Given the description of an element on the screen output the (x, y) to click on. 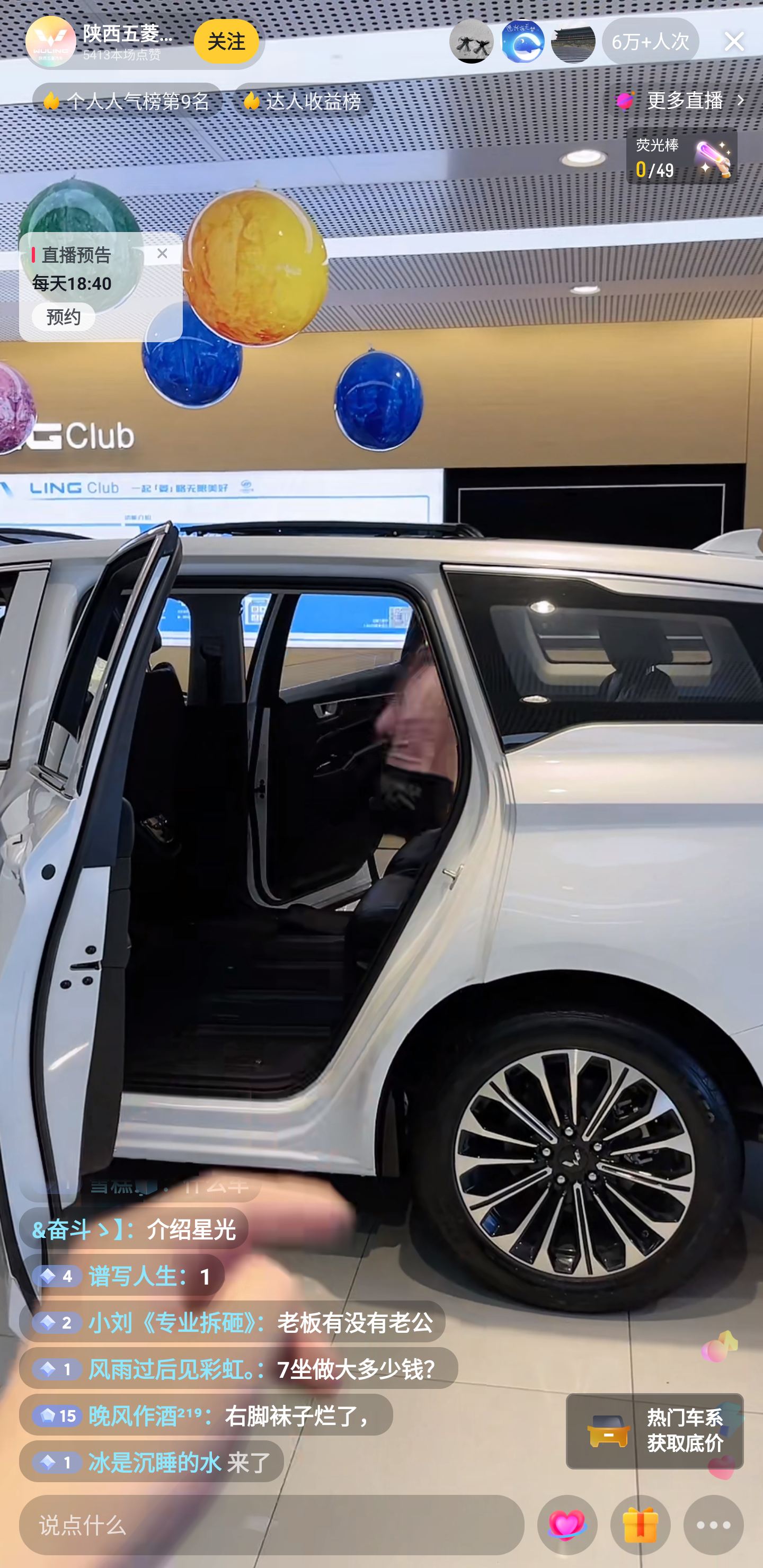
榜一 F (471, 41)
榜二 七雨飘 (522, 41)
榜三 du (572, 41)
主播陕西五菱旗舰店 5413本场点赞  陕西五菱旗舰店 5413本场点赞 关注 (143, 41)
6万+人次 (650, 41)
关注 (226, 41)
关闭 (733, 41)
个人人气榜第9名，按钮 (127, 100)
达人收益榜，按钮 (302, 100)
更多直播 (682, 100)
心愿单- (681, 156)
关闭预告贴片 (162, 249)
预约 按钮 预约 (63, 316)
&奋斗ゝ】：介绍星光 (133, 1228)
* 谱写人生：1 (121, 1274)
* 小刘《专业拆砸》：老板有没有老公 (232, 1320)
* 风雨过后见彩虹。：7坐做大多少钱？ (238, 1367)
热门车系 获取底价 (654, 1431)
* 晚风作酒²¹⁹：右脚袜子烂了， (205, 1414)
* 冰是沉睡的水 来了 (151, 1460)
说点什么 表情入口 (271, 1524)
小心心 (567, 1526)
礼物 (640, 1526)
更多面板 按钮 (713, 1526)
